Given the description of an element on the screen output the (x, y) to click on. 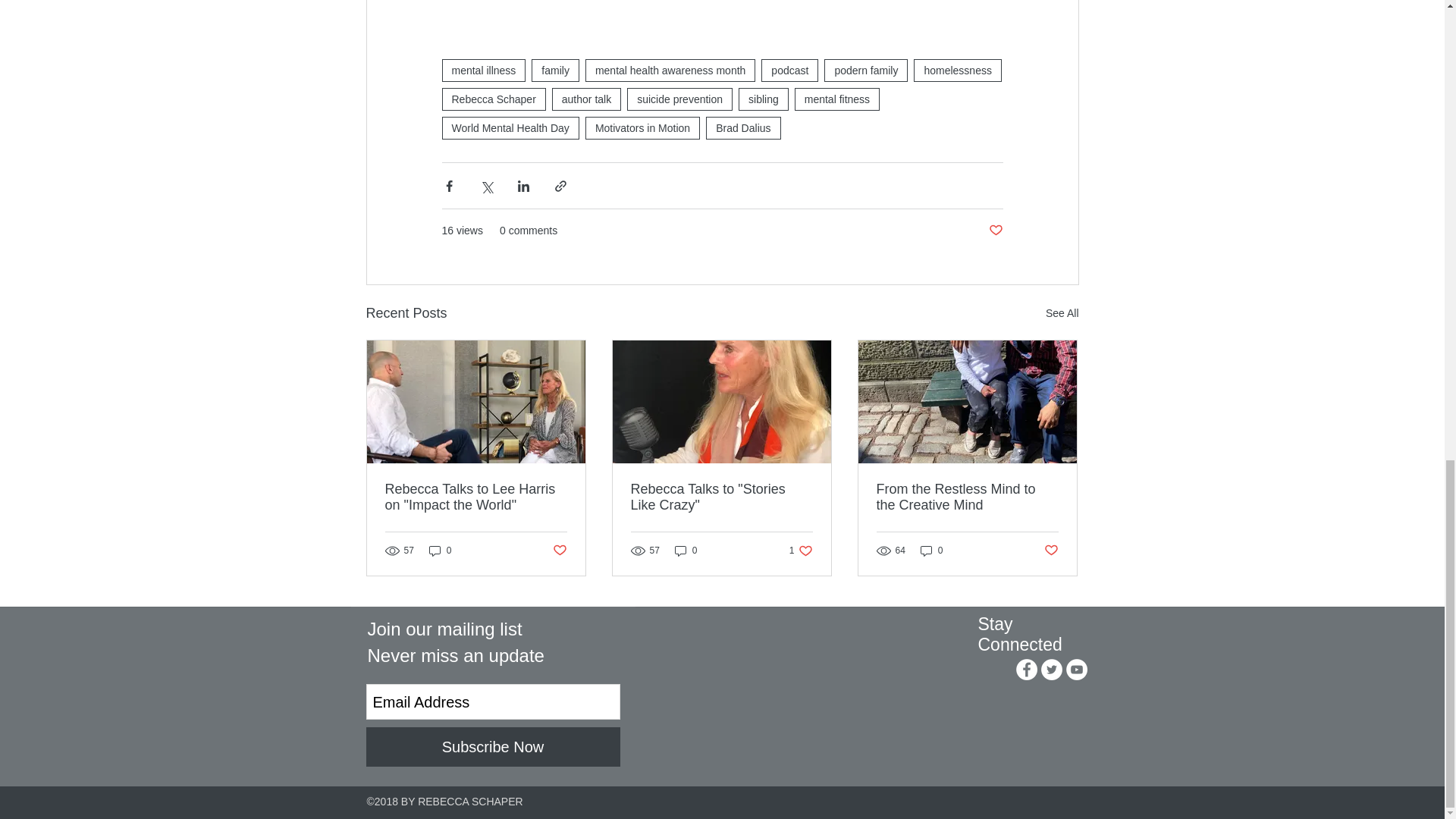
Motivators in Motion (642, 128)
Rebecca Talks to Lee Harris on "Impact the World" (476, 497)
family (800, 550)
sibling (555, 69)
suicide prevention (763, 98)
Post not marked as liked (679, 98)
mental illness (558, 550)
Post not marked as liked (483, 69)
author talk (995, 230)
